Given the description of an element on the screen output the (x, y) to click on. 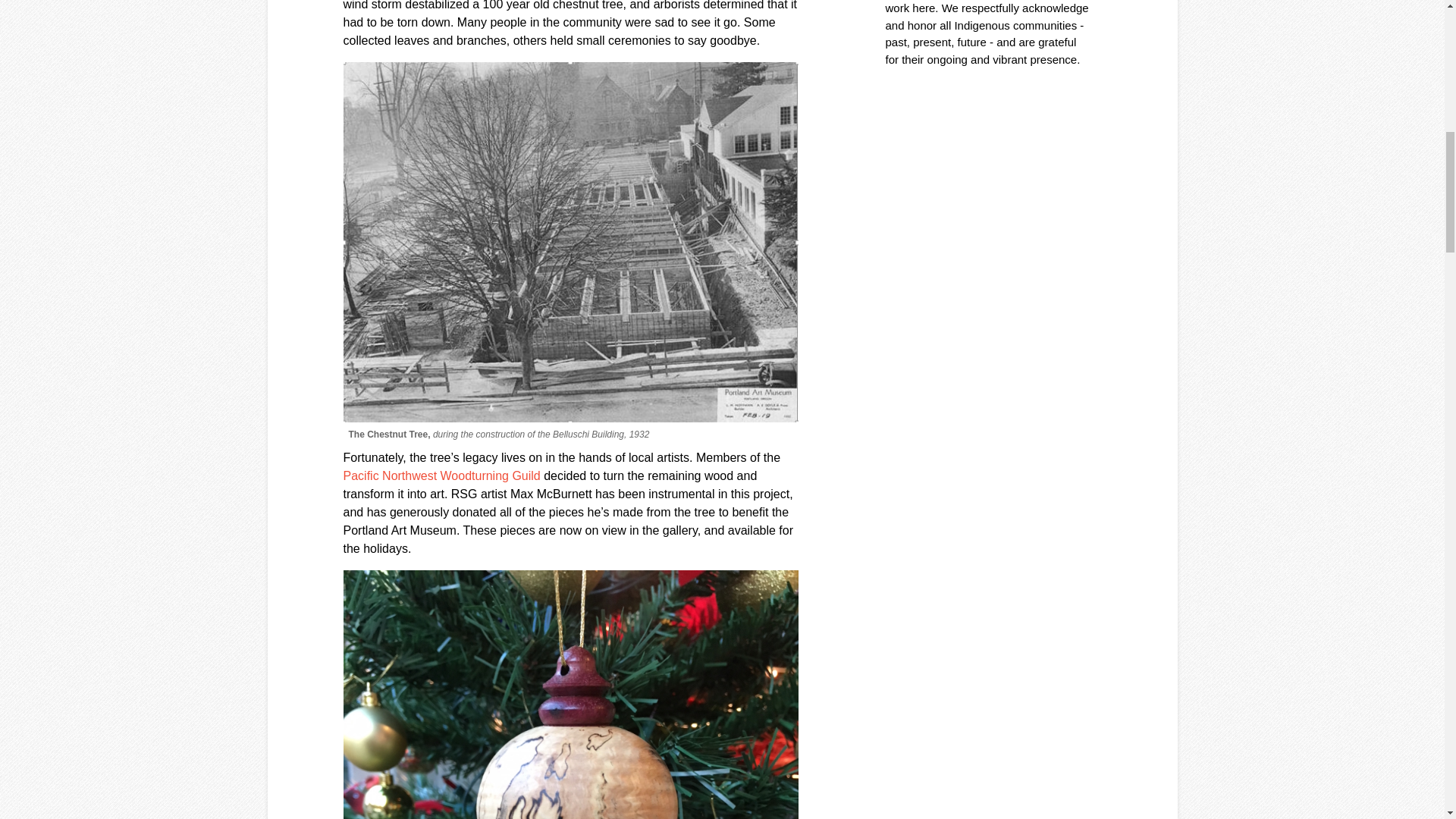
Pacific Northwest Woodturning Guild (441, 475)
